Given the description of an element on the screen output the (x, y) to click on. 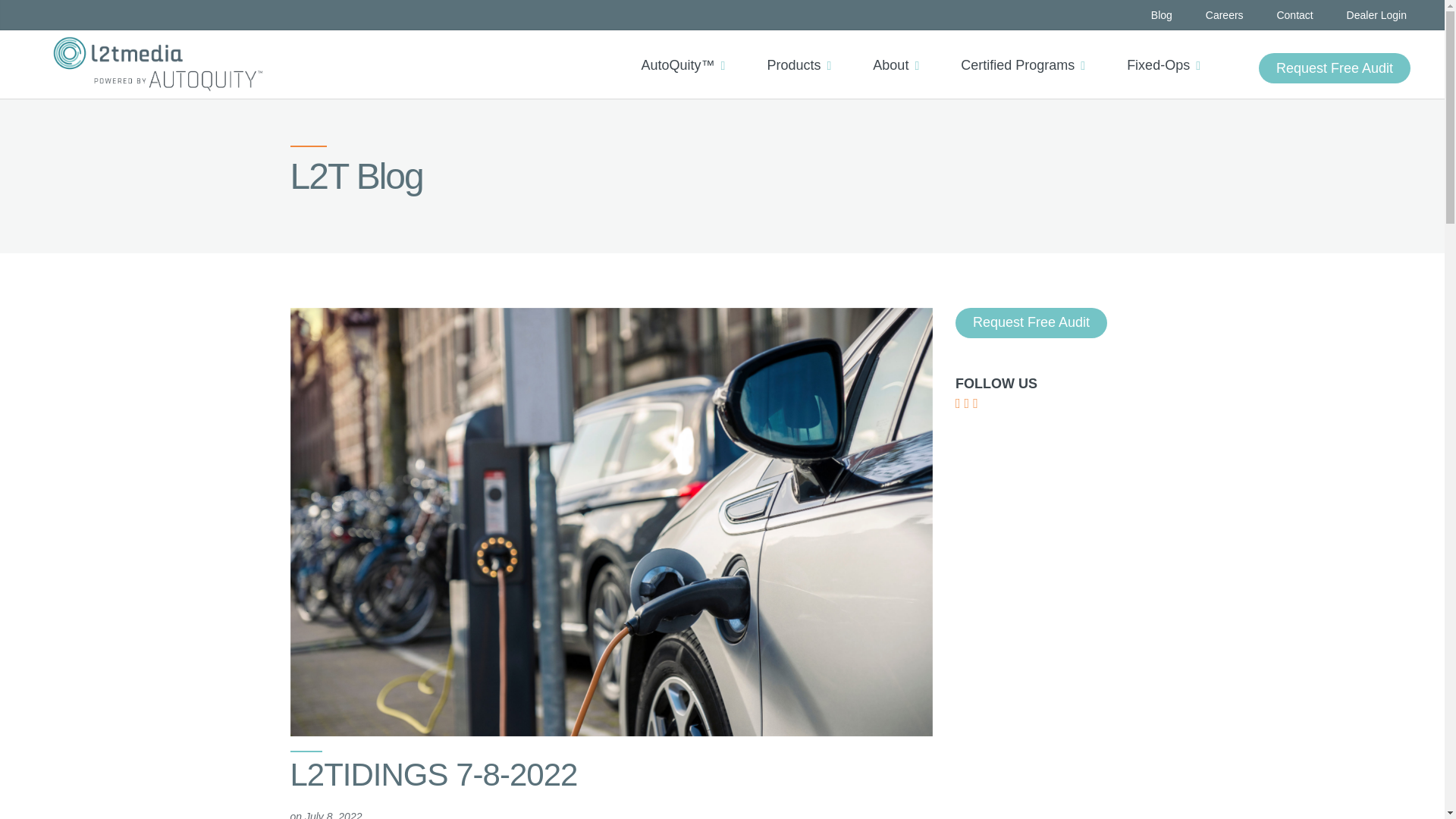
Contact (1294, 15)
Fixed-Ops (1169, 52)
Blog (1161, 15)
Dealer Login (1376, 15)
Request Free Audit (1334, 68)
Request Free Audit (1334, 68)
About (900, 52)
Products (804, 52)
Certified Programs (1028, 52)
Careers (1224, 15)
